Given the description of an element on the screen output the (x, y) to click on. 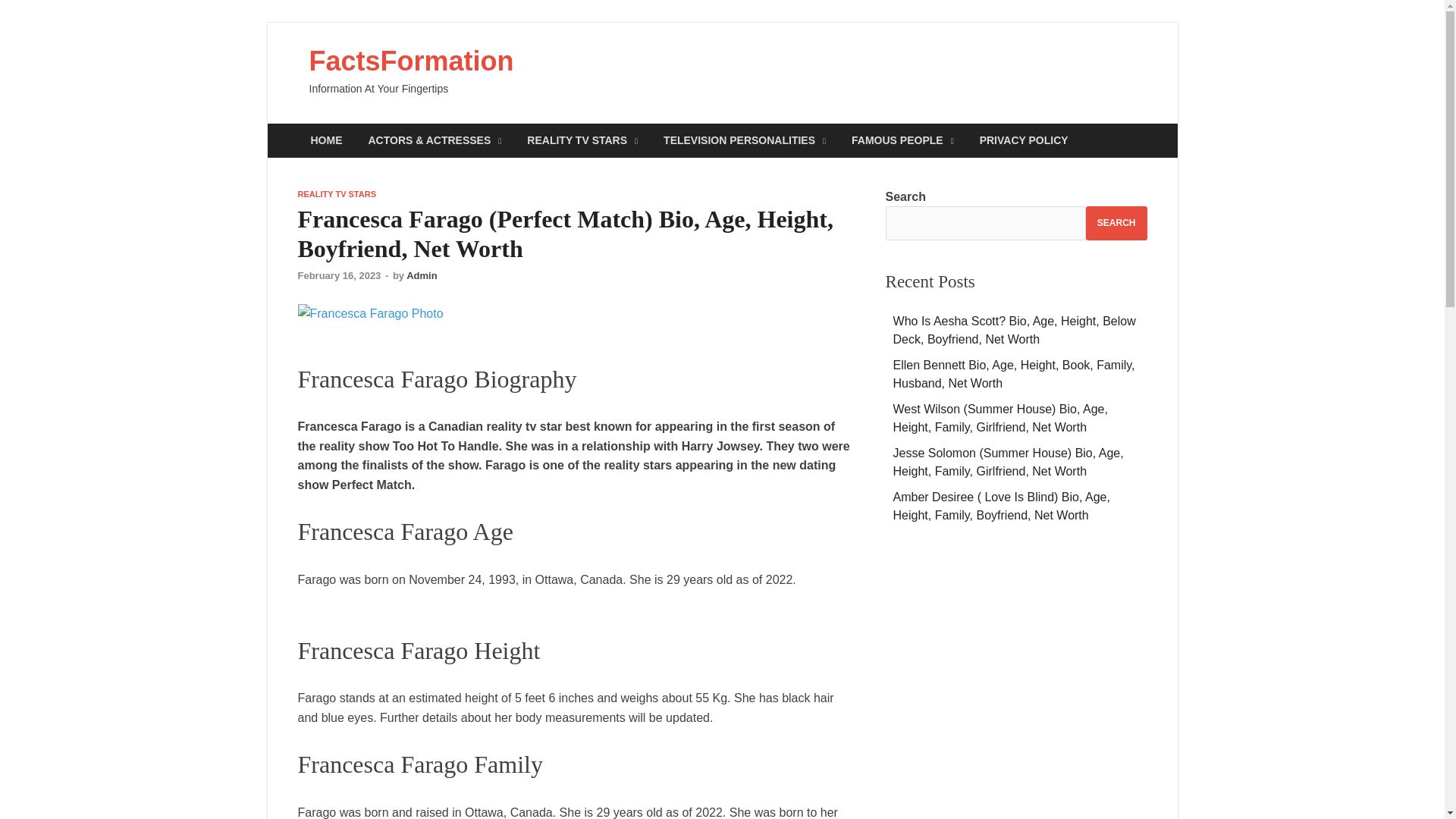
FactsFormation (410, 60)
February 16, 2023 (338, 275)
Admin (421, 275)
REALITY TV STARS (581, 140)
HOME (326, 140)
FAMOUS PEOPLE (902, 140)
PRIVACY POLICY (1023, 140)
REALITY TV STARS (336, 194)
TELEVISION PERSONALITIES (744, 140)
